Given the description of an element on the screen output the (x, y) to click on. 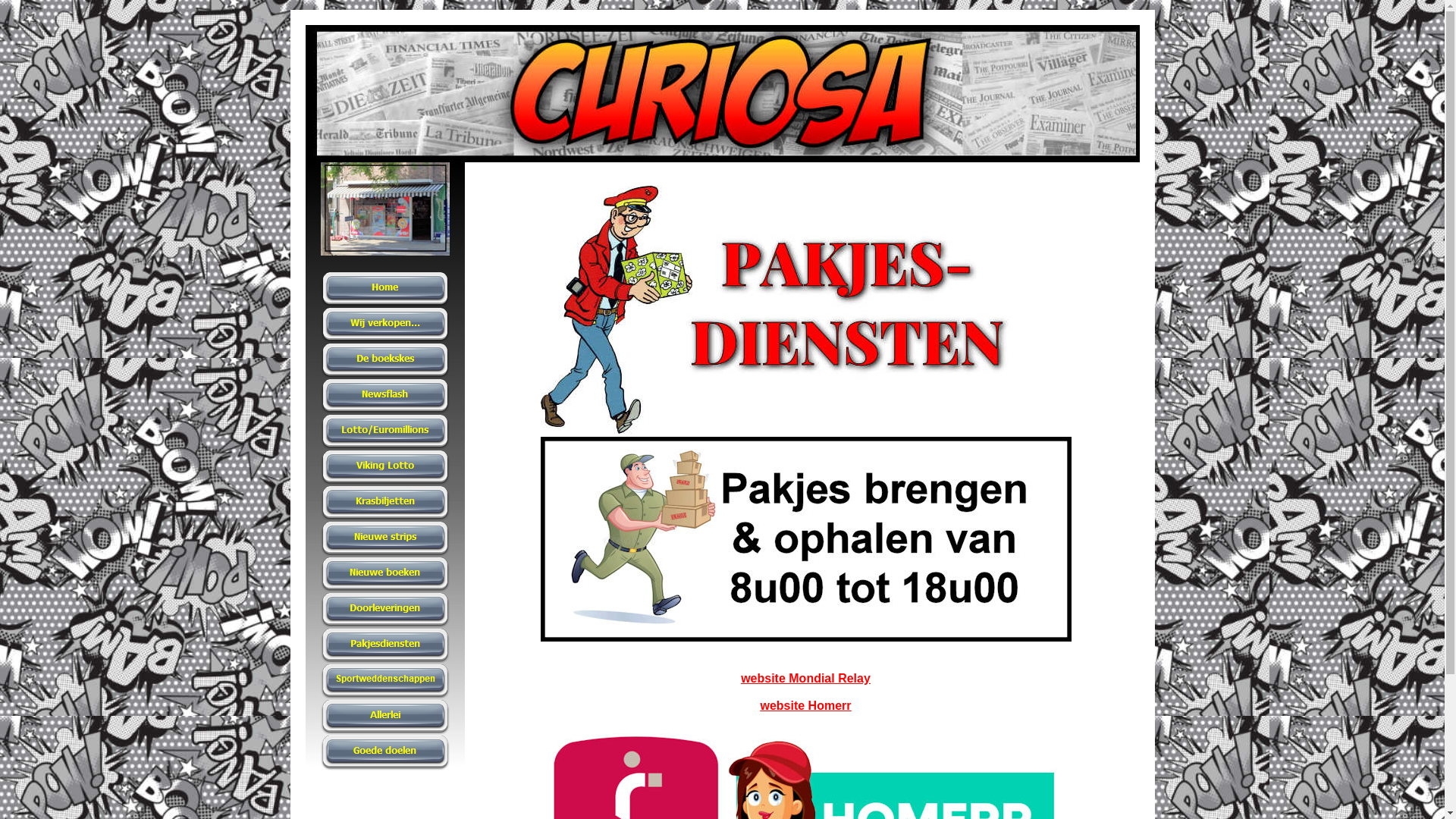
Viking Lotto Element type: text (384, 467)
De boekskes Element type: text (384, 360)
Home Element type: text (384, 289)
Wij verkopen... Element type: text (384, 324)
Krasbiljetten Element type: text (384, 503)
Goede doelen Element type: text (384, 752)
Lotto/Euromillions Element type: text (384, 431)
Newsflash Element type: text (384, 396)
Nieuwe boeken Element type: text (384, 574)
Sportweddenschappen Element type: text (384, 681)
Nieuwe strips Element type: text (384, 538)
Allerlei Element type: text (384, 716)
Pakjesdiensten Element type: text (384, 645)
Doorleveringen Element type: text (384, 610)
website Mondial Relay Element type: text (805, 677)
website Homerr Element type: text (804, 705)
